Given the description of an element on the screen output the (x, y) to click on. 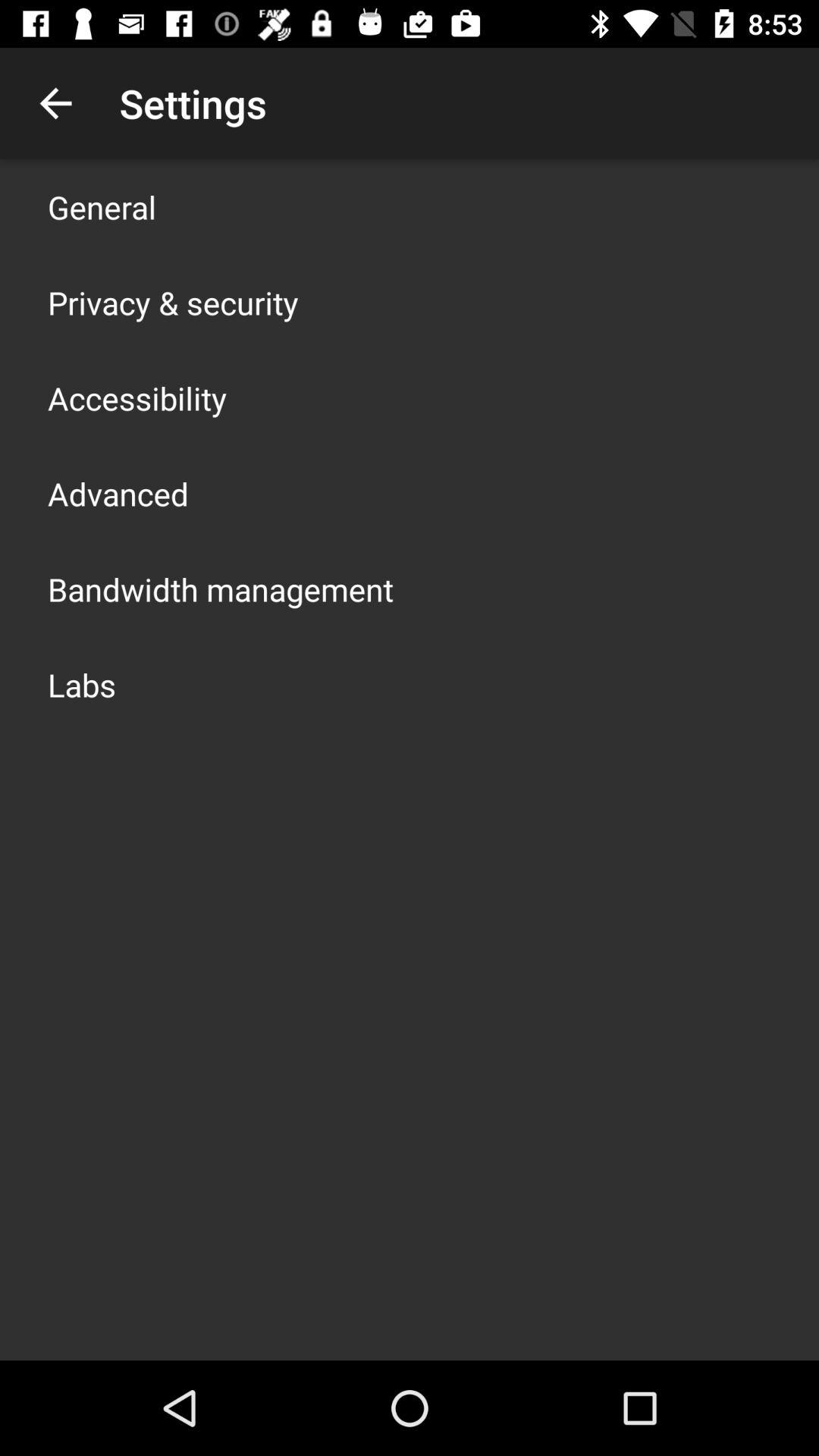
flip until the privacy & security icon (172, 302)
